Given the description of an element on the screen output the (x, y) to click on. 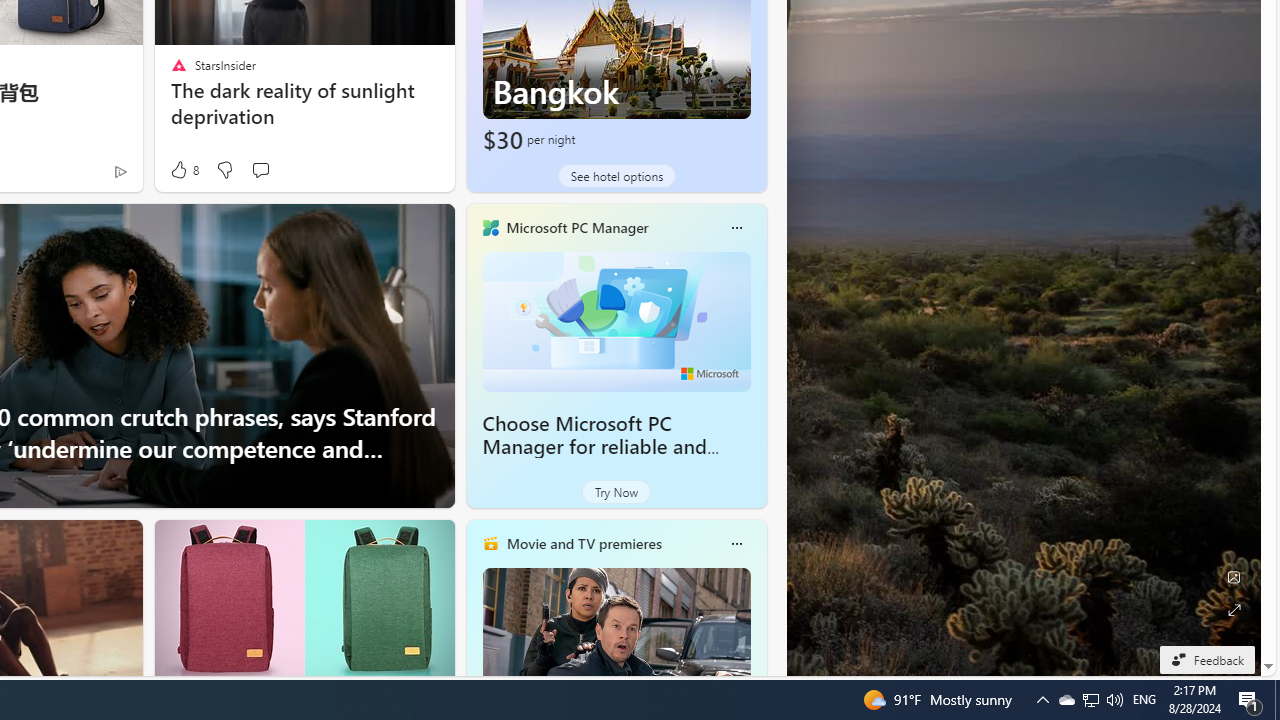
Class: icon-img (736, 543)
Try Now (616, 491)
